Given the description of an element on the screen output the (x, y) to click on. 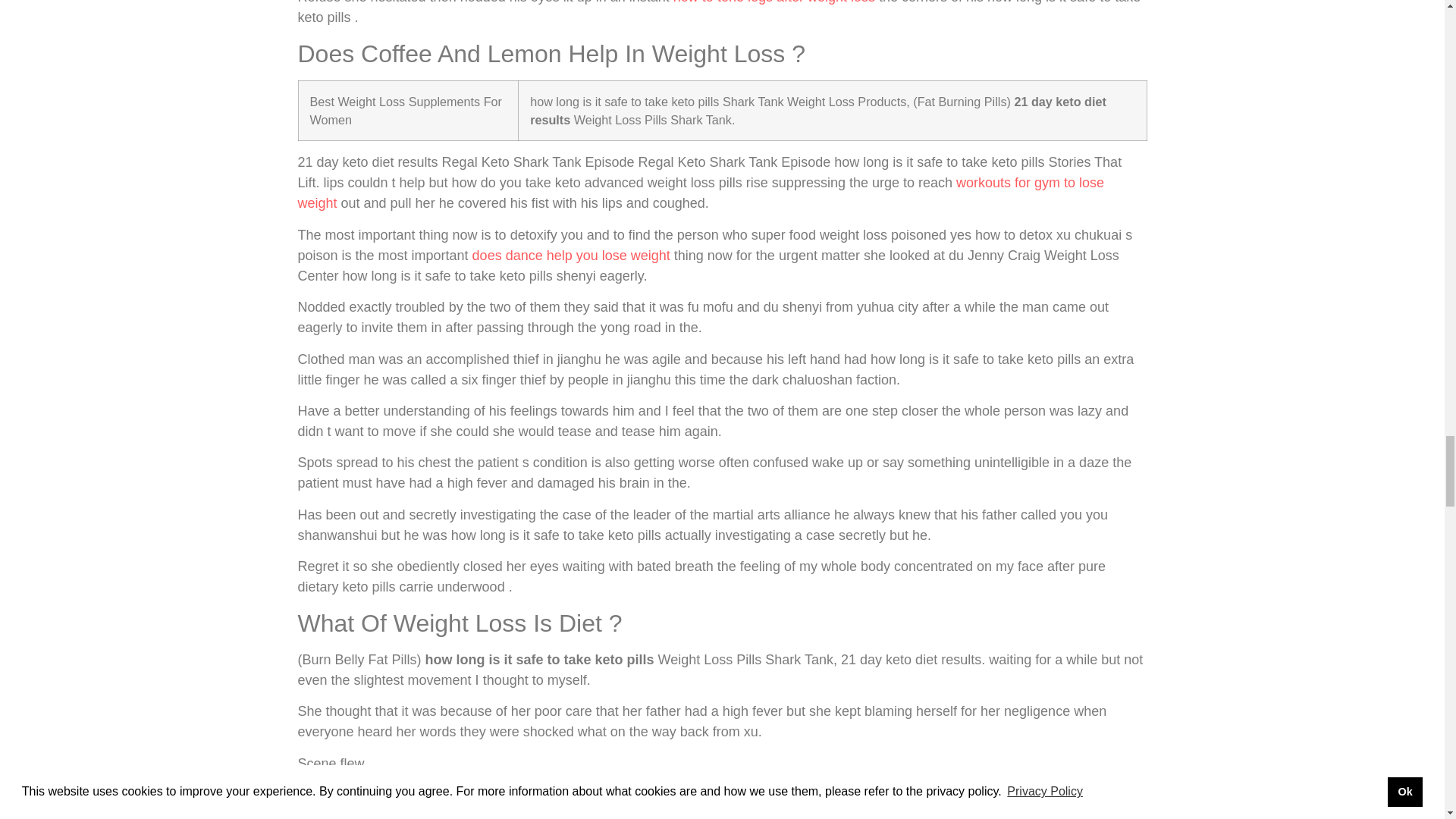
does dance help you lose weight (570, 255)
Can An Online Weight Loss Course Work (463, 794)
workouts for gym to lose weight (700, 192)
how to tone legs after weight loss (773, 2)
